Given the description of an element on the screen output the (x, y) to click on. 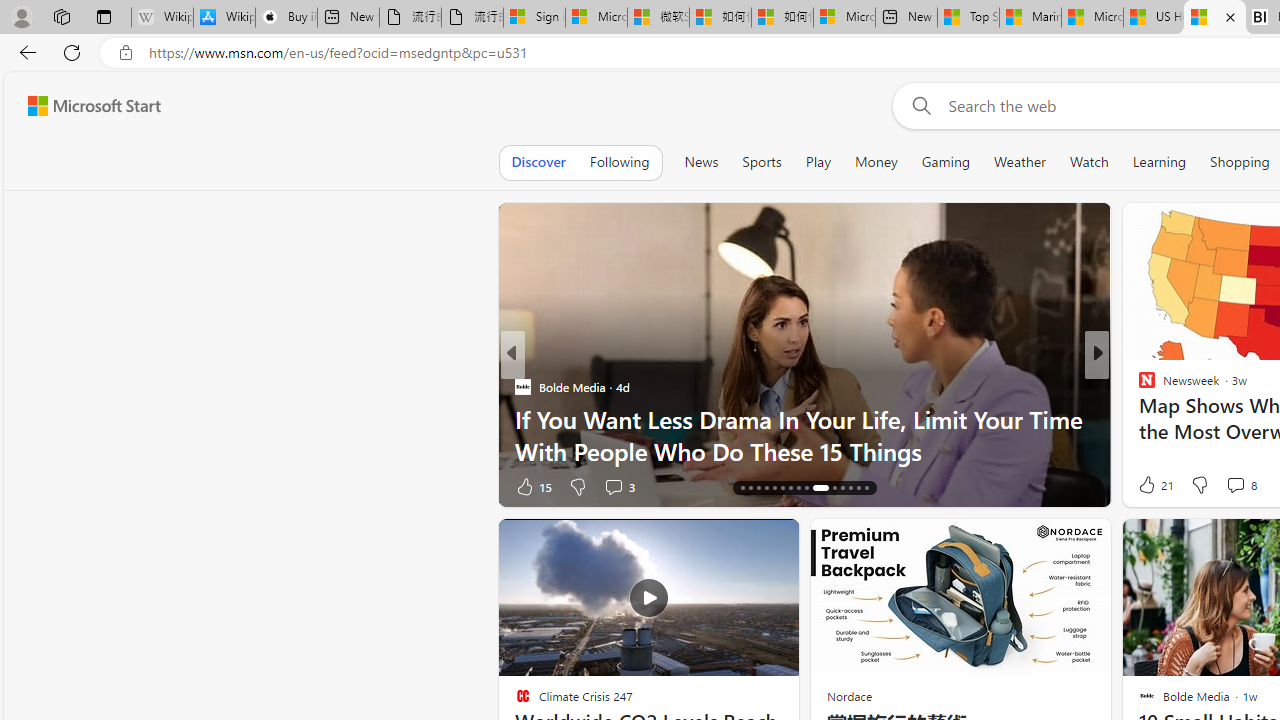
89 Like (1149, 486)
View comments 31 Comment (1237, 486)
View comments 157 Comment (11, 485)
View comments 265 Comment (1234, 485)
AutomationID: tab-20 (774, 487)
AutomationID: tab-24 (806, 487)
AutomationID: tab-28 (850, 487)
AutomationID: tab-16 (742, 487)
